Given the description of an element on the screen output the (x, y) to click on. 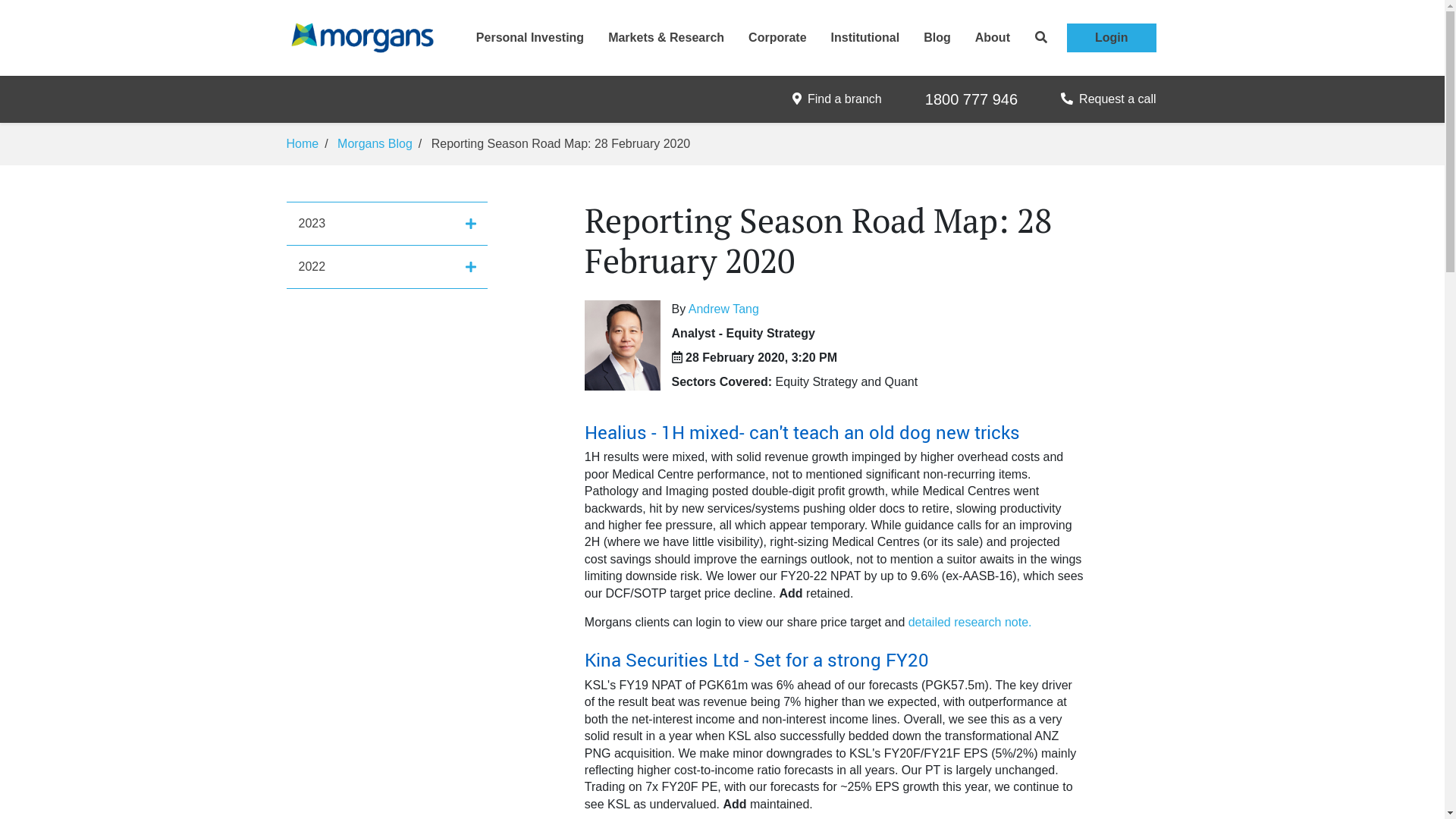
Institutional Element type: text (865, 37)
Click here to expand or collapse the 2023 posts Element type: text (470, 223)
2022 Element type: text (386, 266)
Corporate Element type: text (777, 37)
Personal Investing Element type: text (530, 37)
Andrew Tang Element type: text (723, 308)
Find a branch Element type: text (836, 99)
About Element type: text (992, 37)
1800 777 946 Element type: text (971, 99)
detailed research note. Element type: text (970, 621)
Login Element type: text (1111, 37)
Home Element type: text (302, 143)
2023 Element type: text (386, 223)
Markets & Research Element type: text (666, 37)
Morgans Blog Element type: text (374, 143)
Blog Element type: text (937, 37)
Click here to expand or collapse the 2022 posts Element type: text (470, 266)
Request a call Element type: text (1108, 99)
